Given the description of an element on the screen output the (x, y) to click on. 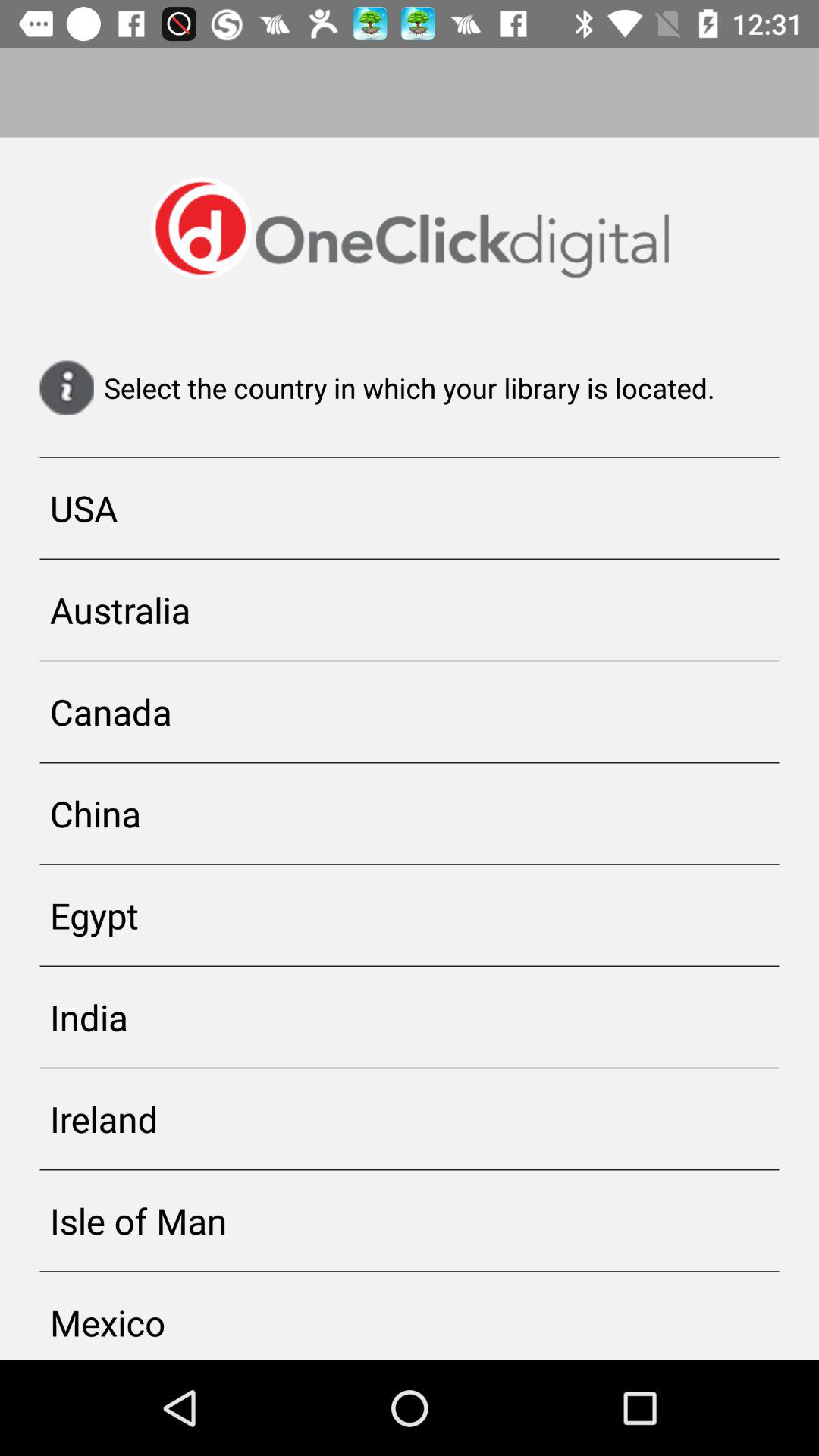
select icon below canada (409, 813)
